Given the description of an element on the screen output the (x, y) to click on. 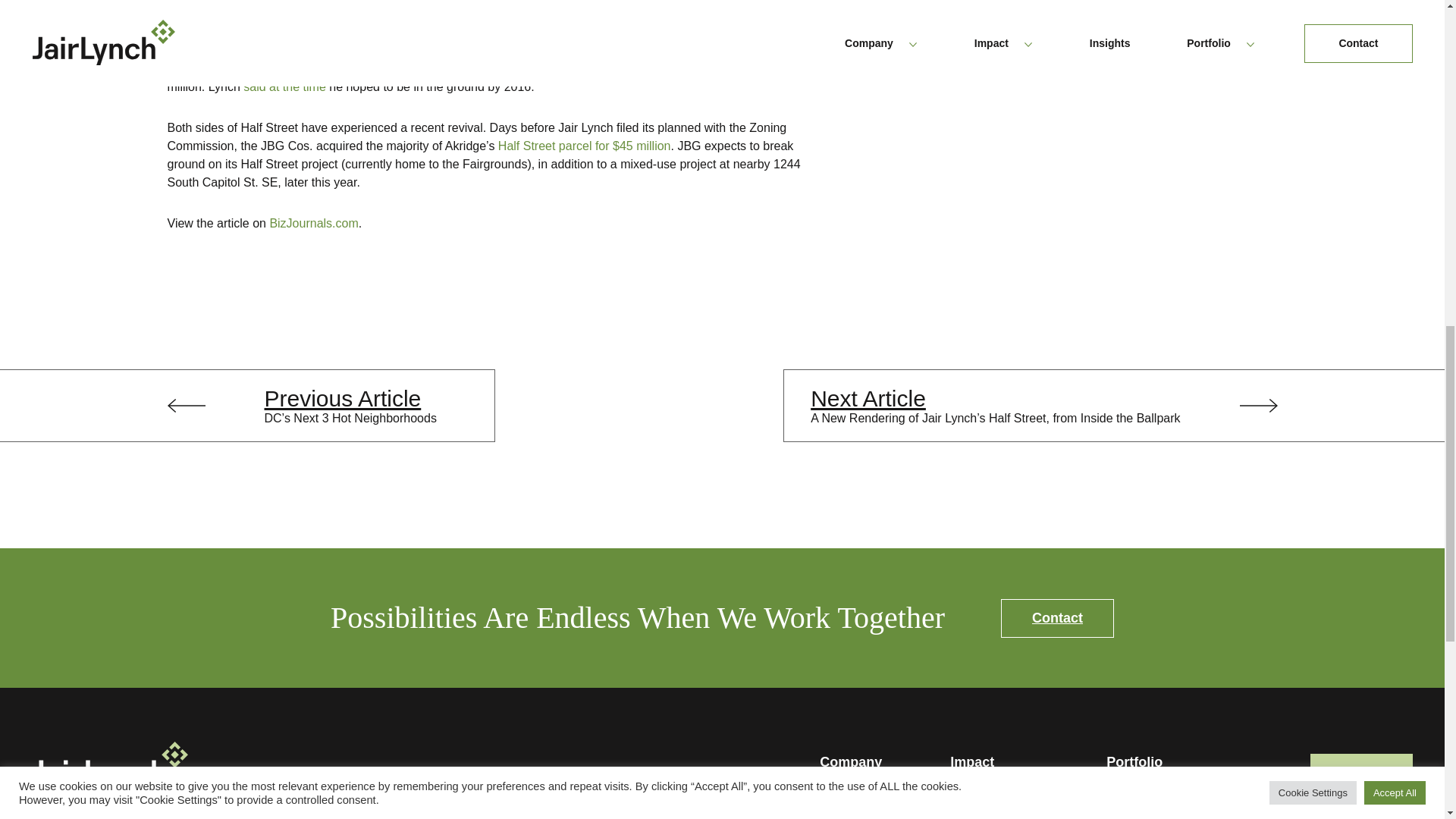
BizJournals.com (313, 223)
acquired the undeveloped portion of Half Street (442, 68)
Contact (1057, 618)
said at the time (284, 86)
